Given the description of an element on the screen output the (x, y) to click on. 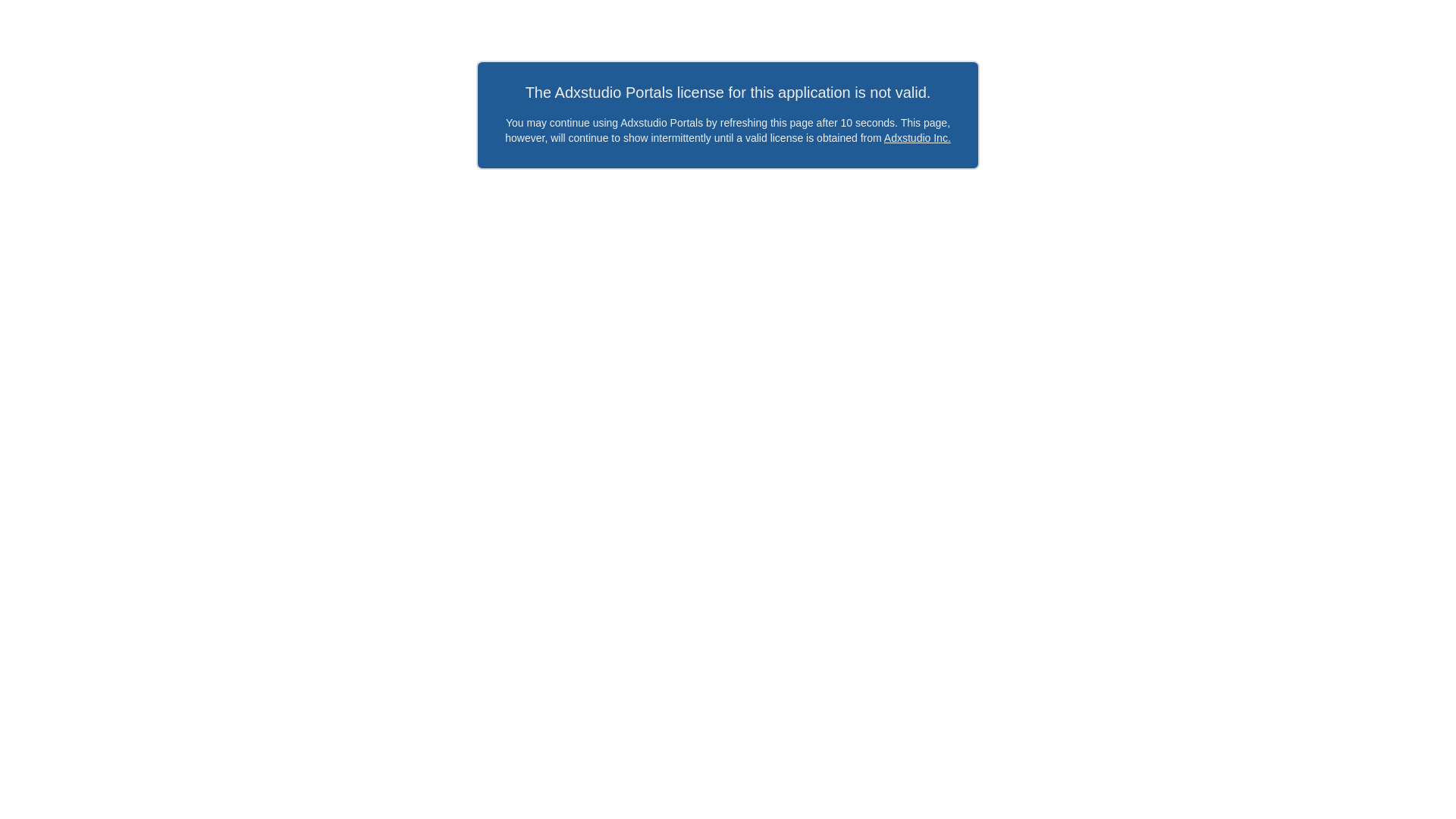
Adxstudio Inc. Element type: text (917, 137)
